Given the description of an element on the screen output the (x, y) to click on. 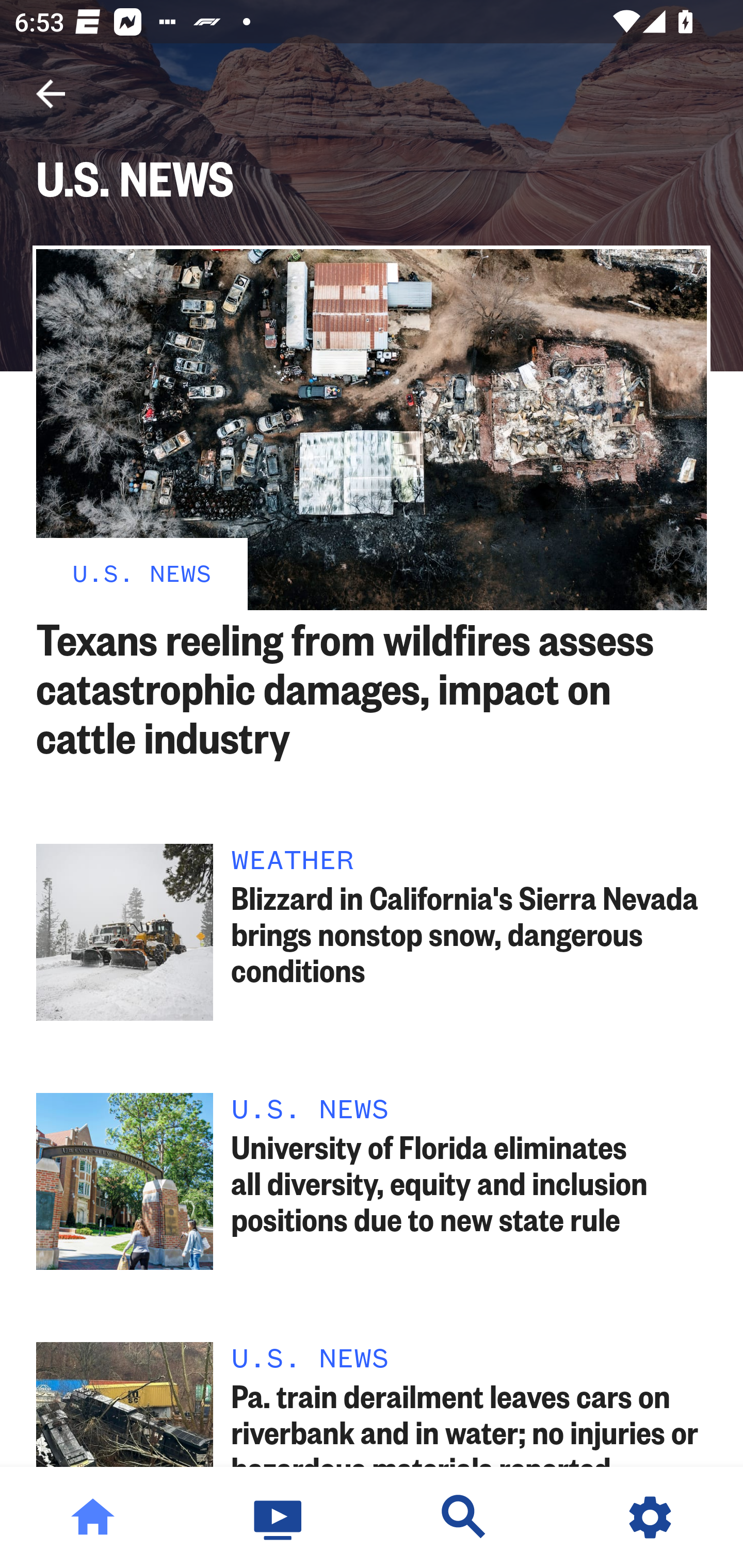
Navigate up (50, 93)
Watch (278, 1517)
Discover (464, 1517)
Settings (650, 1517)
